Given the description of an element on the screen output the (x, y) to click on. 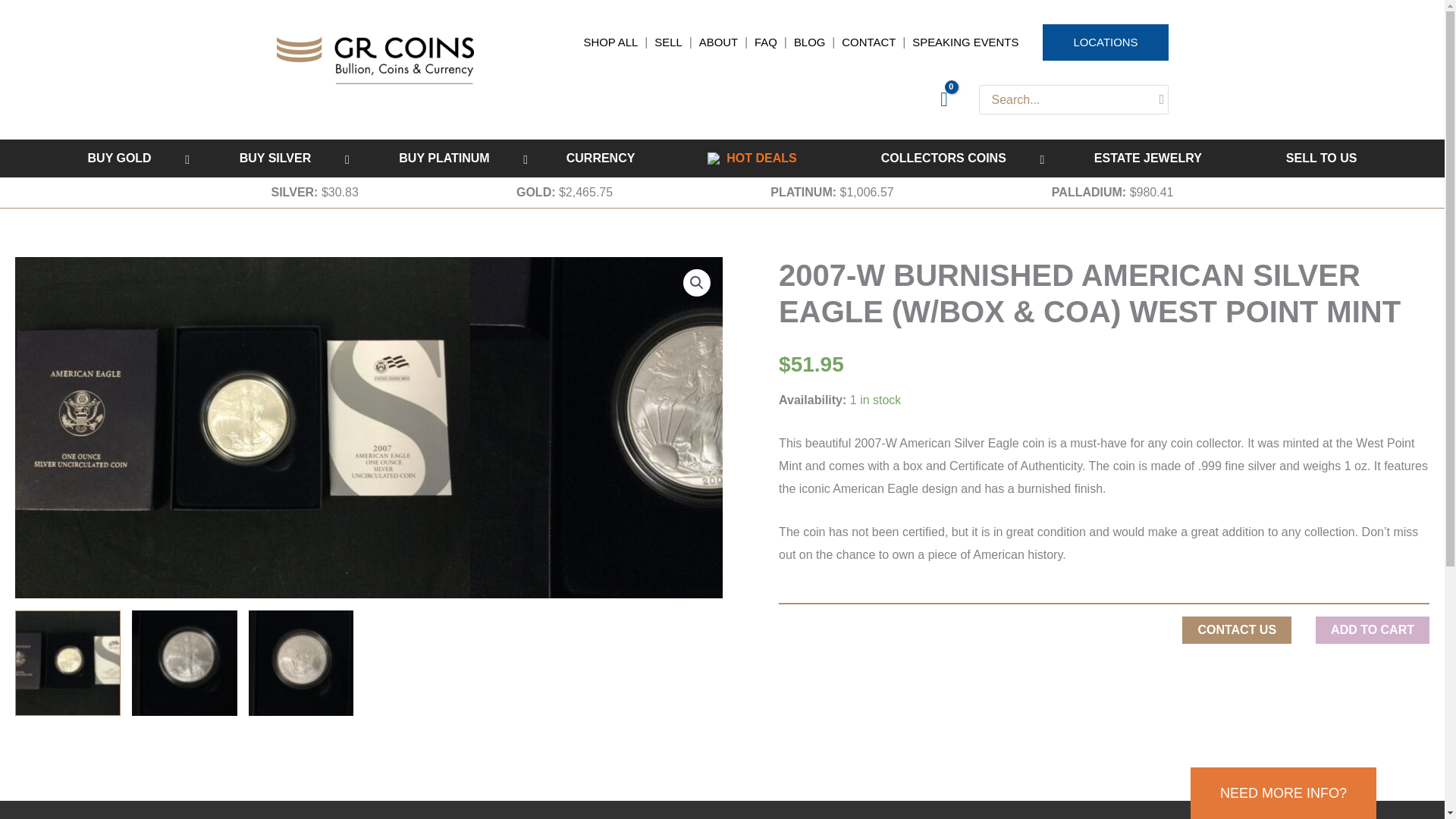
CONTACT (868, 42)
BLOG (809, 42)
LOCATIONS (1104, 42)
FAQ (765, 42)
SHOP ALL (610, 42)
ABOUT (718, 42)
SELL (667, 42)
SPEAKING EVENTS (964, 42)
